Given the description of an element on the screen output the (x, y) to click on. 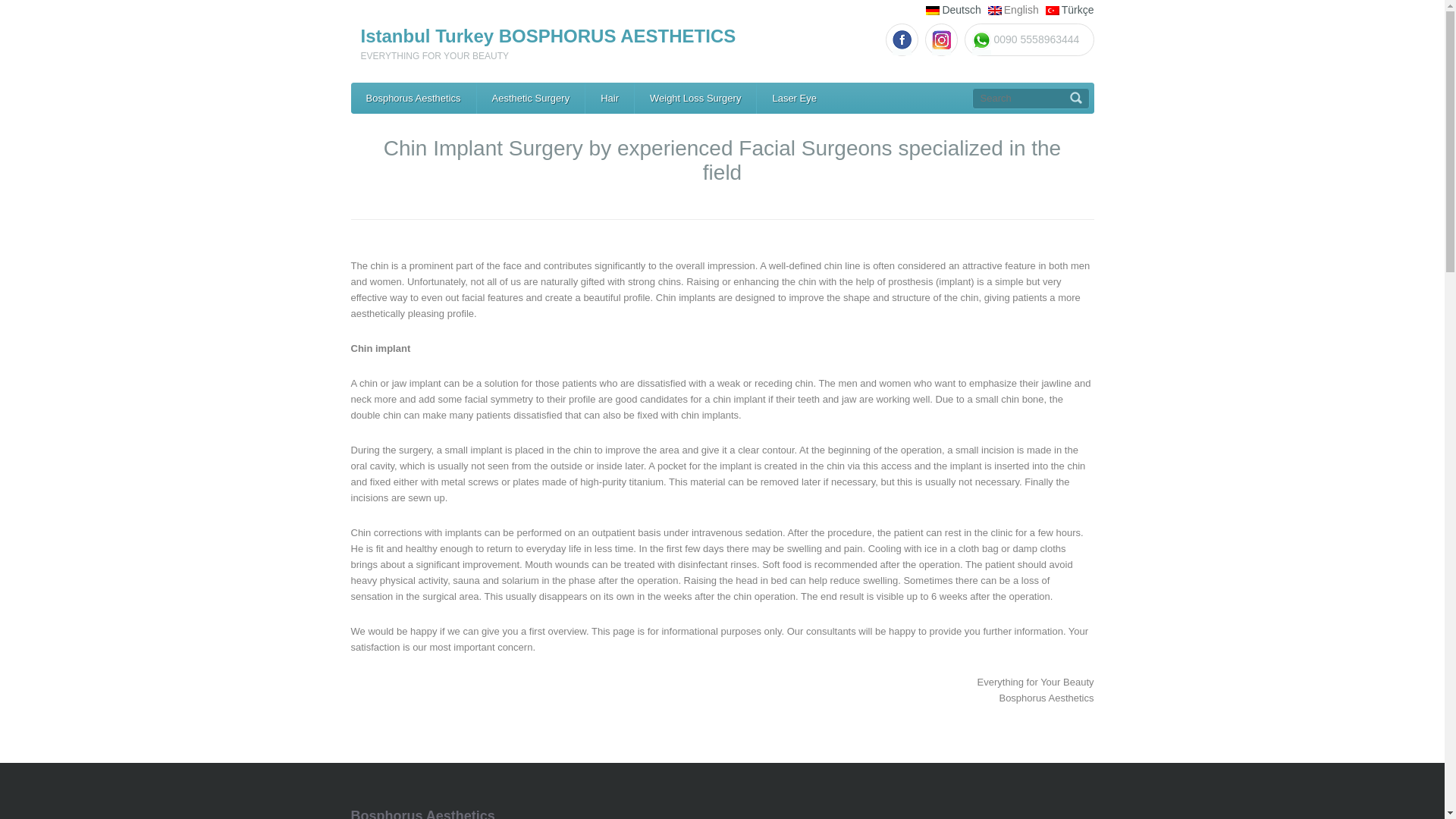
Everything for Your Beauty (413, 97)
Plastic and Aesthetic Surgery, Beauty Treatments (531, 97)
Bosphorus Aesthetics (413, 97)
Aesthetic Surgery (531, 97)
Istanbul Turkey BOSPHORUS AESTHETICS (548, 35)
Deutsch (960, 9)
Istanbul Turkey BOSPHORUS AESTHETICS (548, 35)
